Given the description of an element on the screen output the (x, y) to click on. 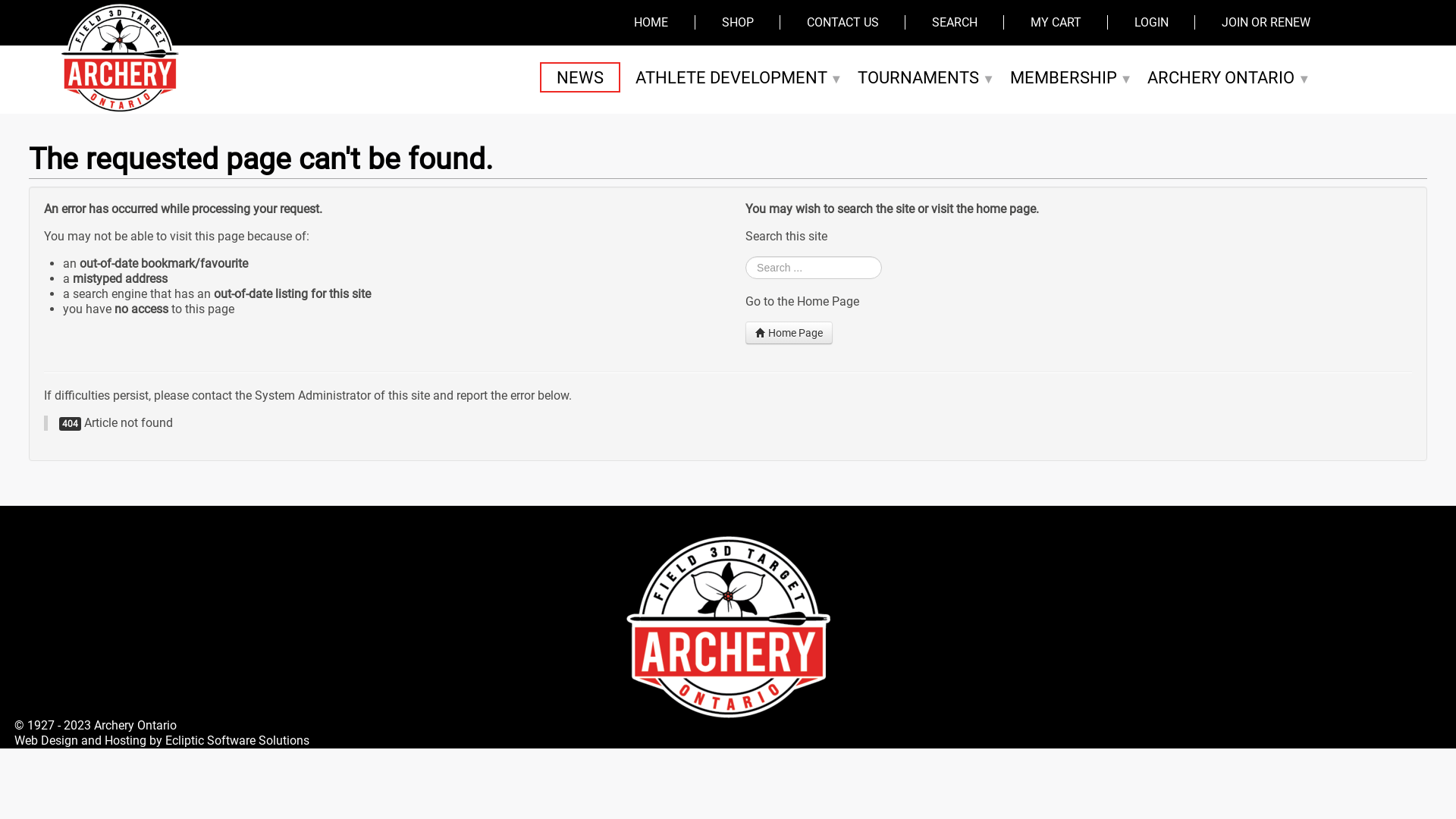
SEARCH Element type: text (954, 22)
LOGIN Element type: text (1151, 22)
HOME Element type: text (650, 22)
JOIN OR RENEW Element type: text (1265, 22)
ARCHERY ONTARIO Element type: text (1228, 77)
TOURNAMENTS Element type: text (925, 77)
Home Page Element type: text (788, 332)
NEWS Element type: text (579, 77)
MY CART Element type: text (1055, 22)
Web Design and Hosting by Ecliptic Software Solutions Element type: text (161, 740)
ATHLETE DEVELOPMENT Element type: text (739, 77)
SHOP Element type: text (737, 22)
CONTACT US Element type: text (842, 22)
MEMBERSHIP Element type: text (1071, 77)
